Given the description of an element on the screen output the (x, y) to click on. 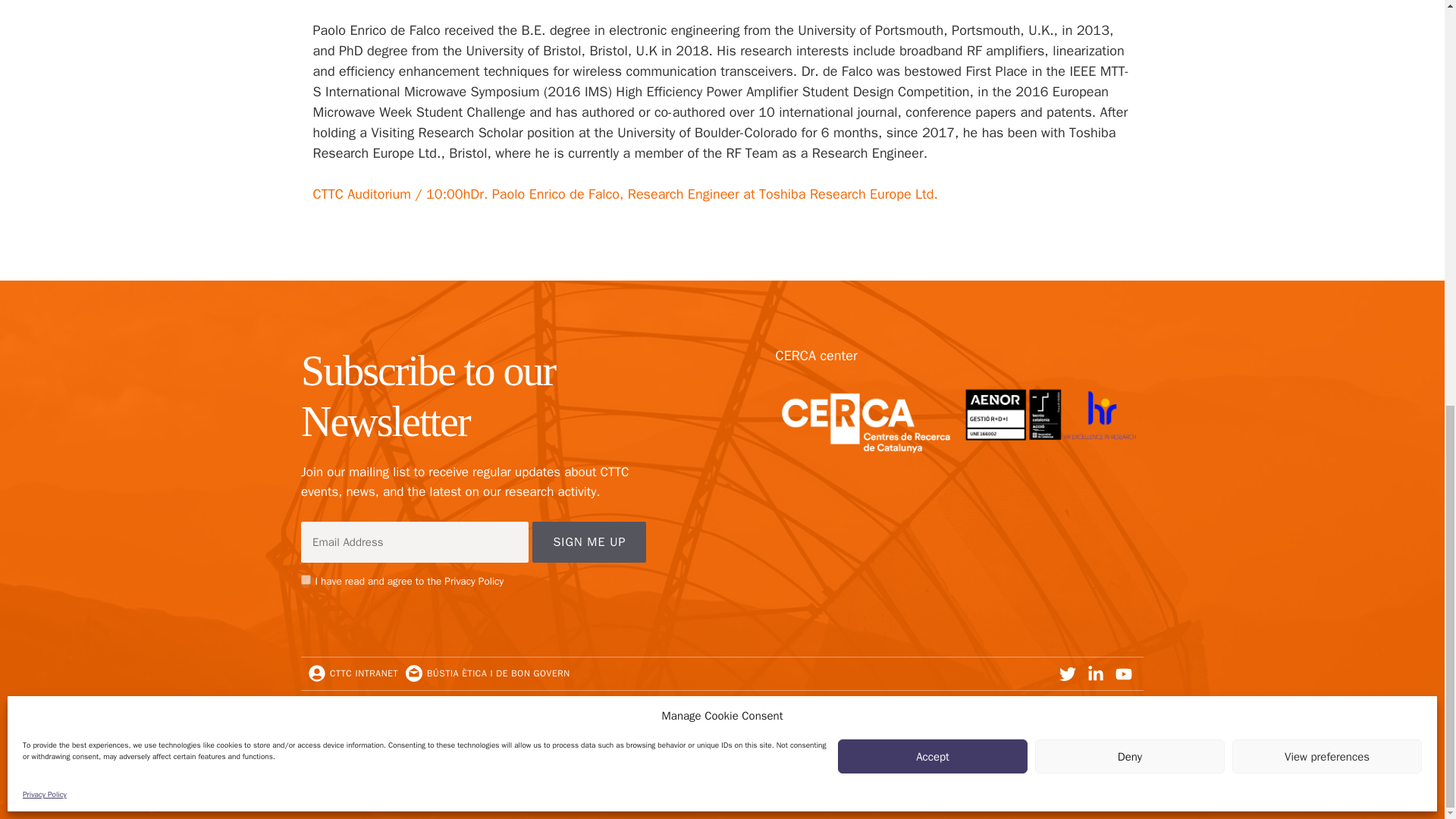
Scroll back to top (1406, 734)
1 (306, 579)
SIGN ME UP (589, 541)
